Given the description of an element on the screen output the (x, y) to click on. 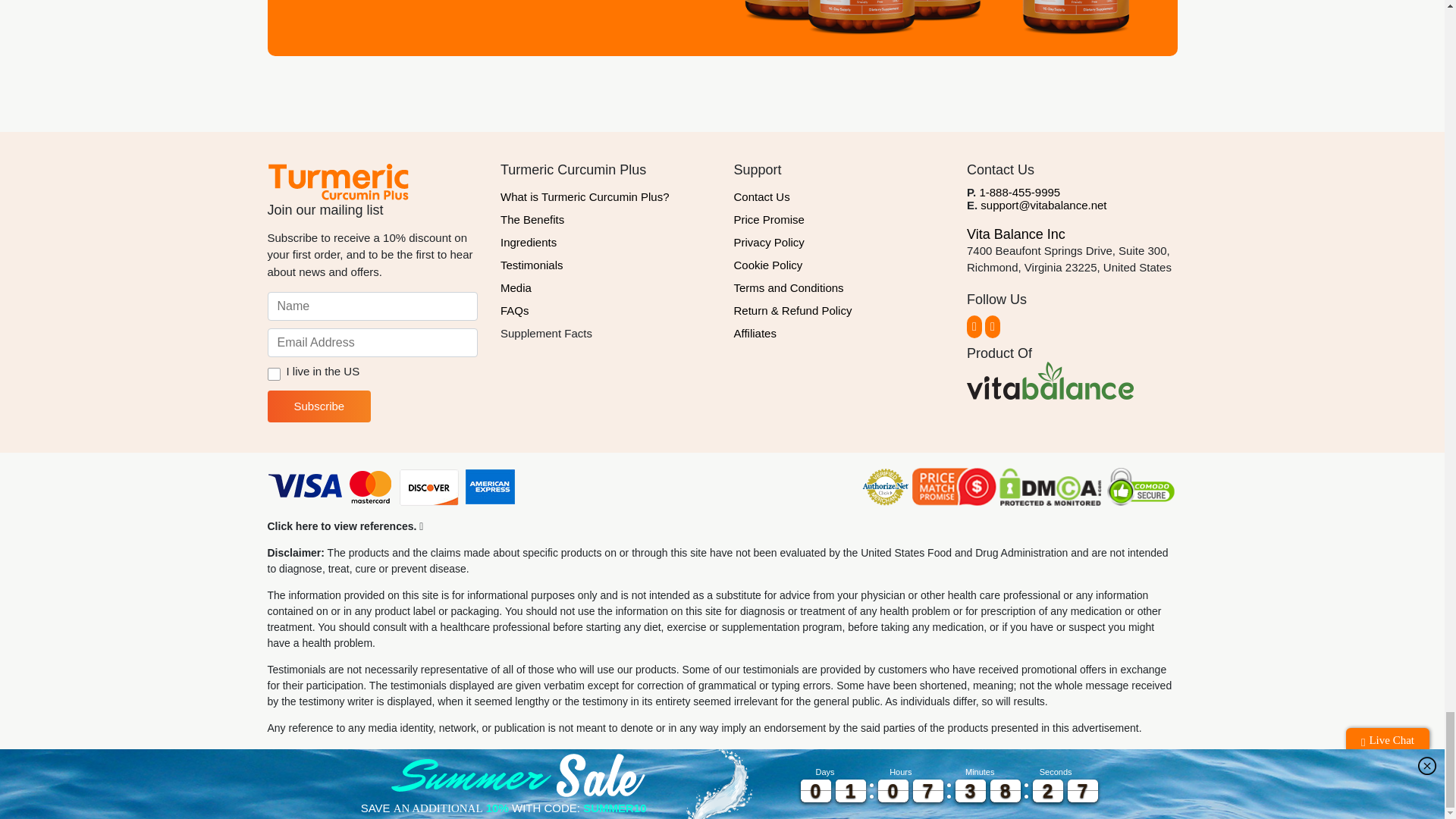
Subscribe (318, 406)
Testimonials (605, 264)
Contact Us (838, 196)
Vita Balance Official Logo (1050, 380)
The Benefits (605, 219)
Price Promise (838, 219)
DMCA.com Protection Status (1049, 487)
FAQs (605, 310)
What is Turmeric Curcumin Plus? (605, 196)
Turmeric Curcumin Plus Official Logo (336, 180)
Ingredients (605, 241)
Media (605, 287)
